Given the description of an element on the screen output the (x, y) to click on. 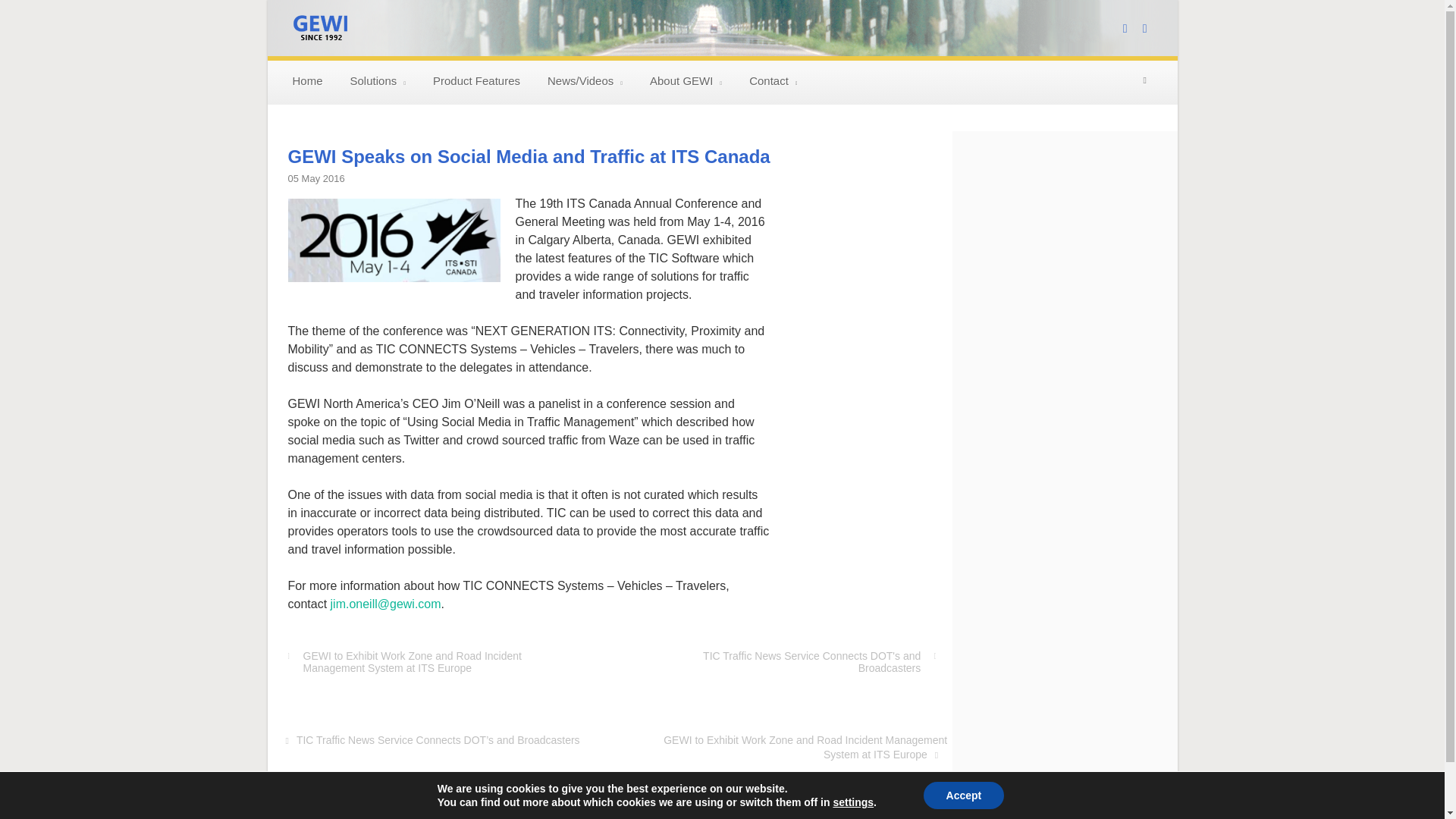
Solutions (377, 82)
About GEWI (685, 82)
Contact (773, 82)
Product Features (476, 82)
Home (307, 82)
